Given the description of an element on the screen output the (x, y) to click on. 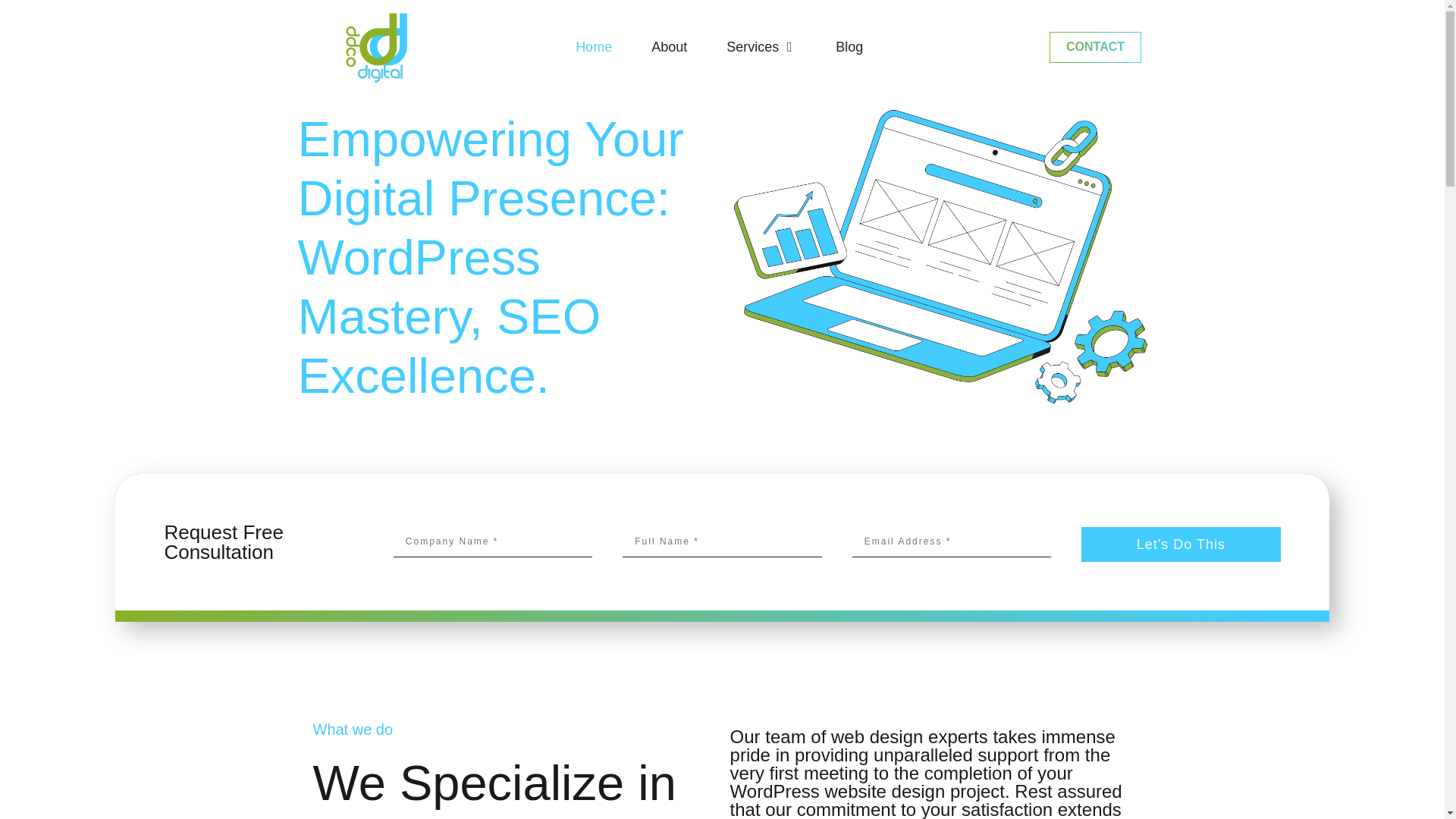
CONTACT (1095, 46)
Home (593, 46)
Blog (849, 46)
About (668, 46)
